Given the description of an element on the screen output the (x, y) to click on. 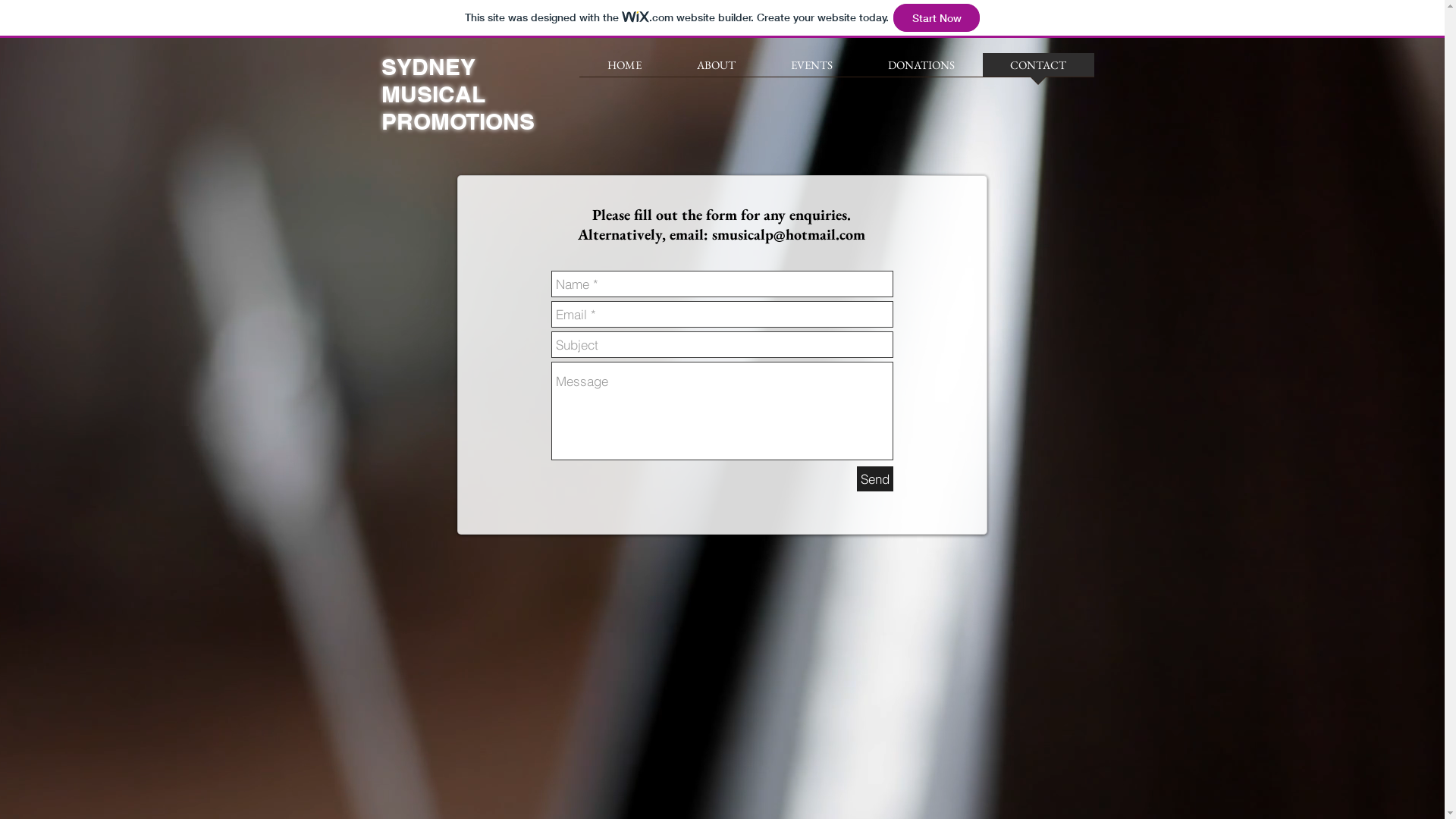
CONTACT Element type: text (1038, 69)
smusicalp@hotmail.com Element type: text (788, 234)
SYDNEY MUSICAL PROMOTIONS Element type: text (456, 93)
HOME Element type: text (624, 69)
Send Element type: text (874, 478)
DONATIONS Element type: text (920, 69)
